Given the description of an element on the screen output the (x, y) to click on. 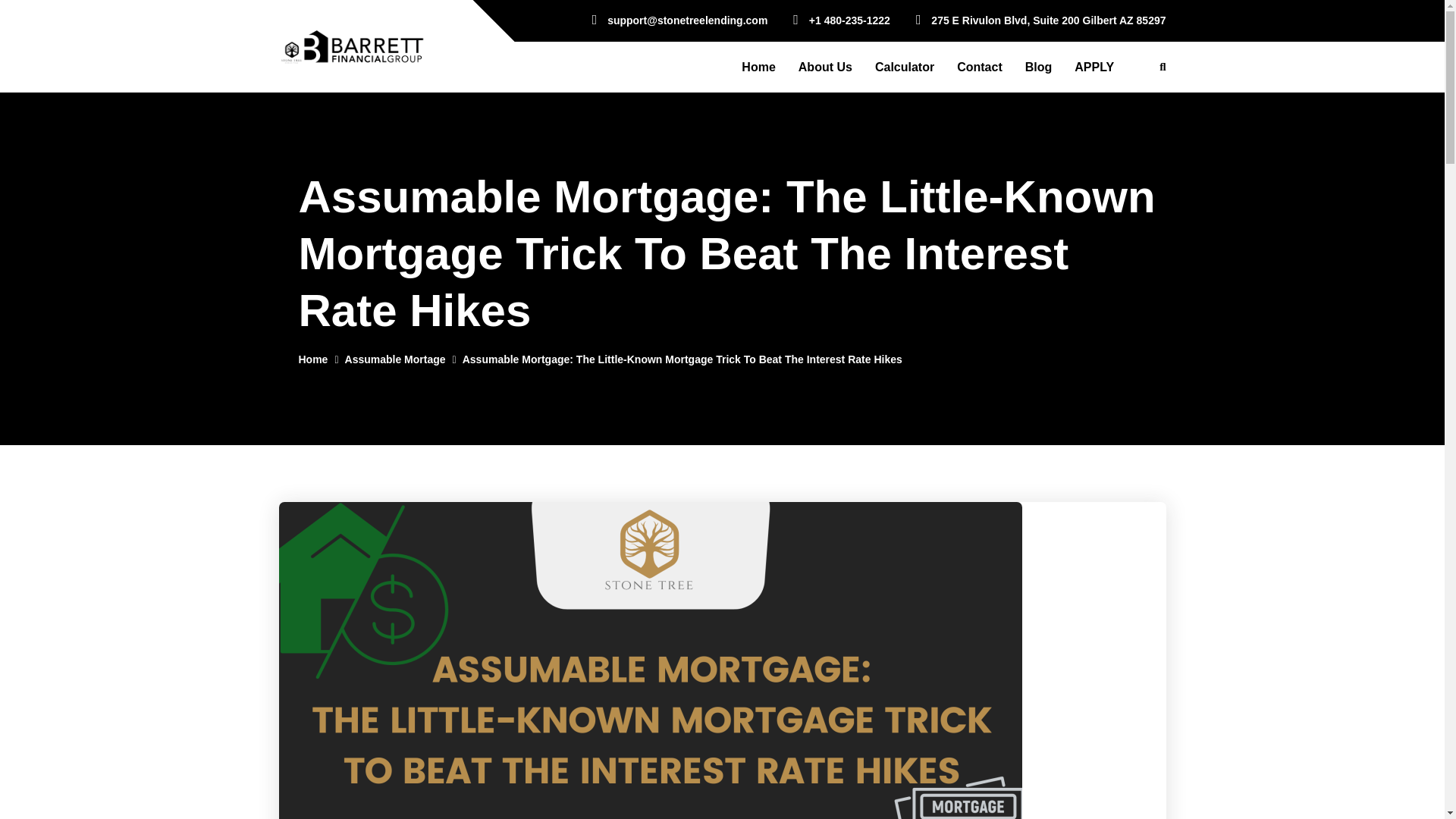
Calculator (903, 66)
APPLY (1093, 66)
About Us (825, 66)
Assumable Mortage (395, 358)
Home (758, 66)
Home (313, 358)
275 E Rivulon Blvd, Suite 200 Gilbert AZ 85297 (1040, 20)
Stone Tree Lending (352, 44)
Blog (1038, 66)
Contact (978, 66)
